Given the description of an element on the screen output the (x, y) to click on. 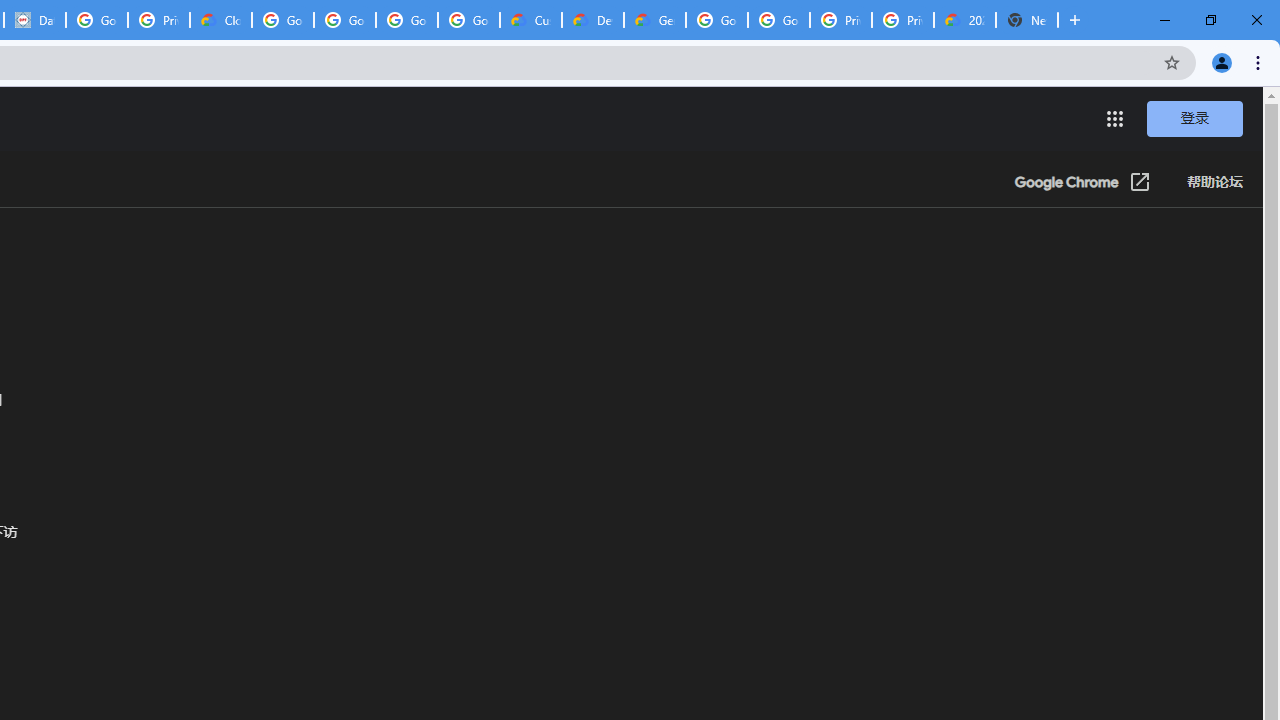
Google Cloud Platform (778, 20)
Cloud Data Processing Addendum | Google Cloud (220, 20)
Google Workspace - Specific Terms (406, 20)
Gemini for Business and Developers | Google Cloud (654, 20)
Google Cloud Platform (716, 20)
